Given the description of an element on the screen output the (x, y) to click on. 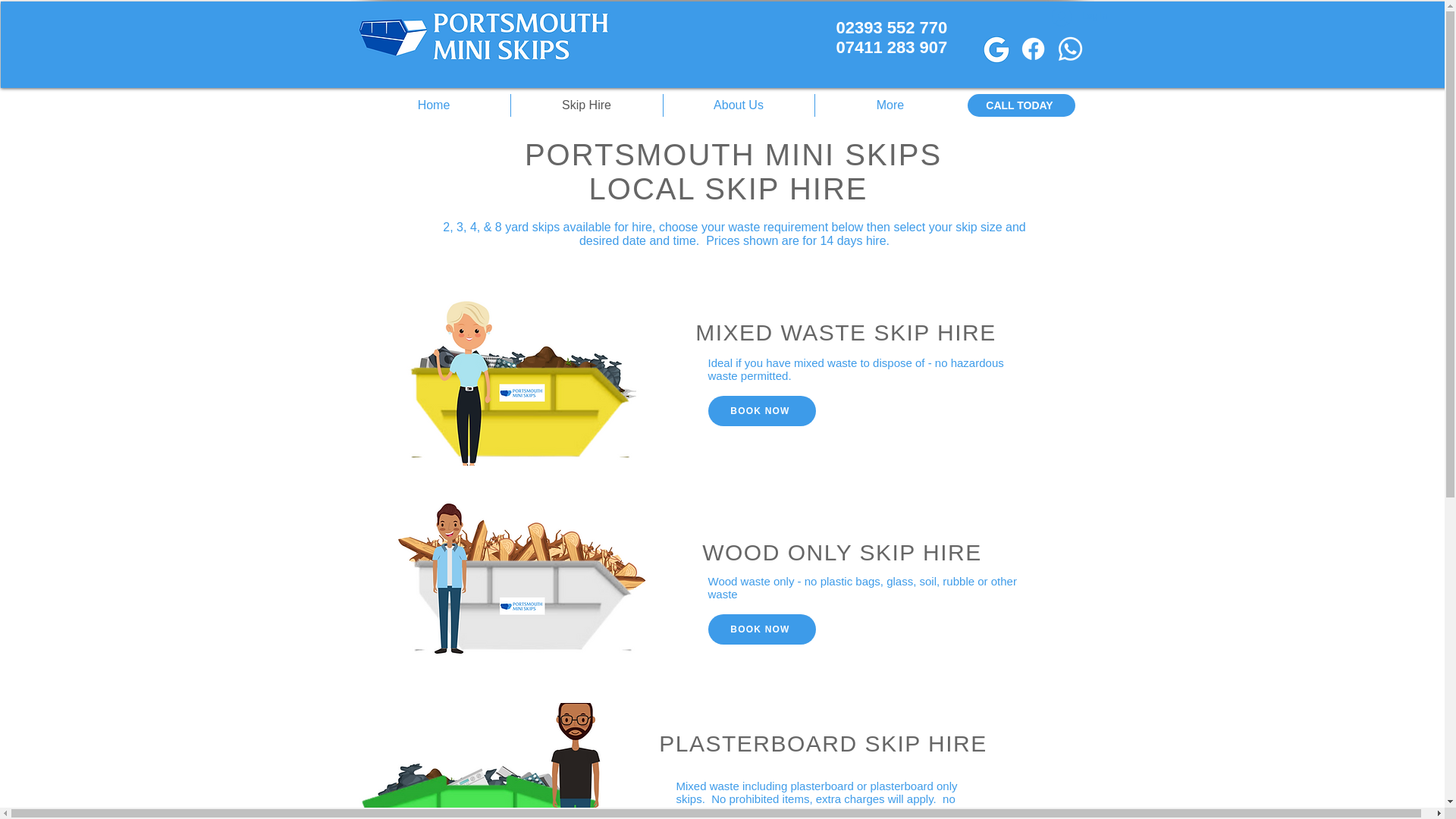
Skip Hire (891, 37)
About Us (586, 105)
Log In (737, 105)
BOOK NOW (1079, 15)
CALL TODAY (761, 410)
Home (1021, 105)
BOOK NOW (434, 105)
